Given the description of an element on the screen output the (x, y) to click on. 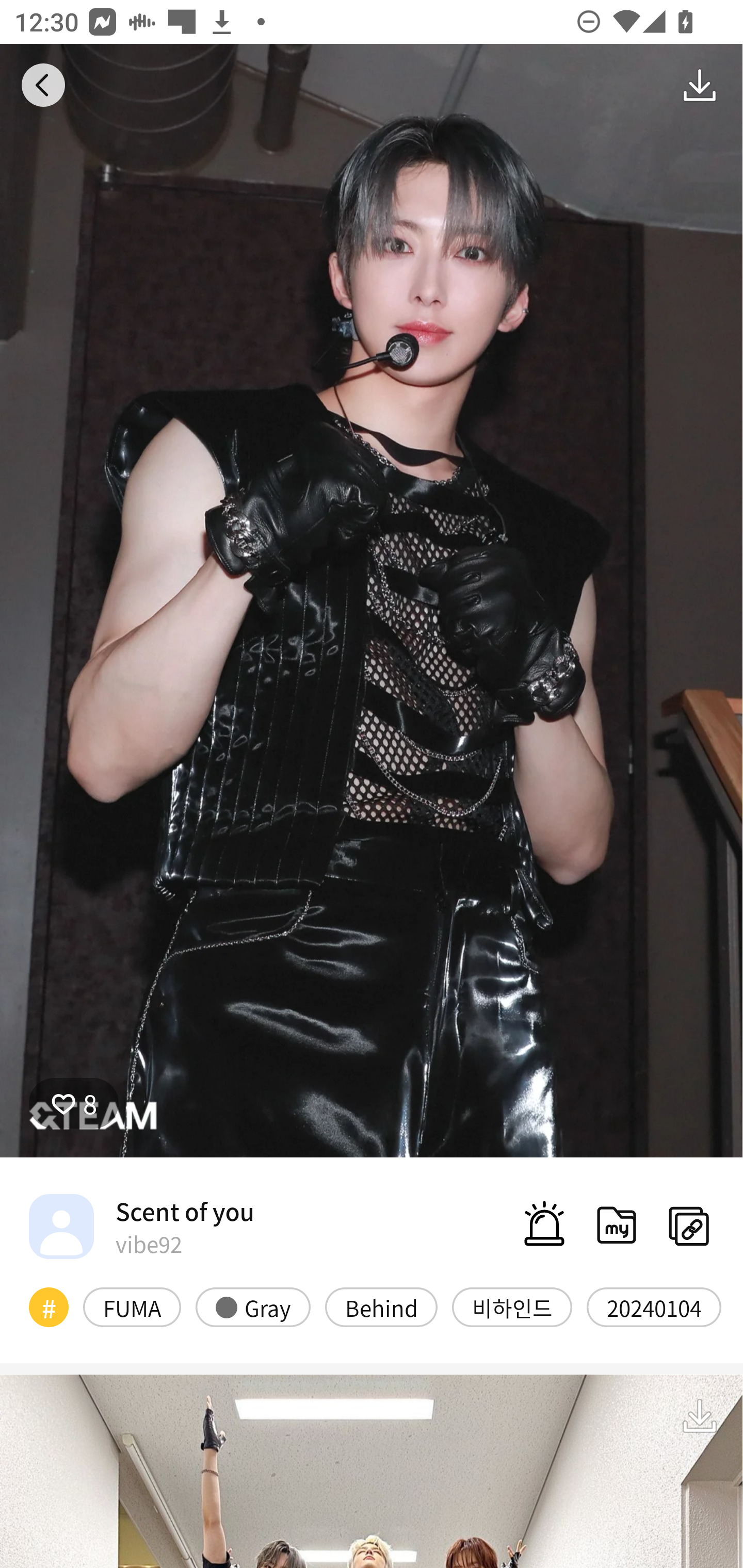
8 (73, 1102)
Scent of you vibe92 (141, 1226)
FUMA (132, 1306)
Gray (252, 1306)
Behind (381, 1306)
비하인드 (511, 1306)
20240104 (653, 1306)
